Given the description of an element on the screen output the (x, y) to click on. 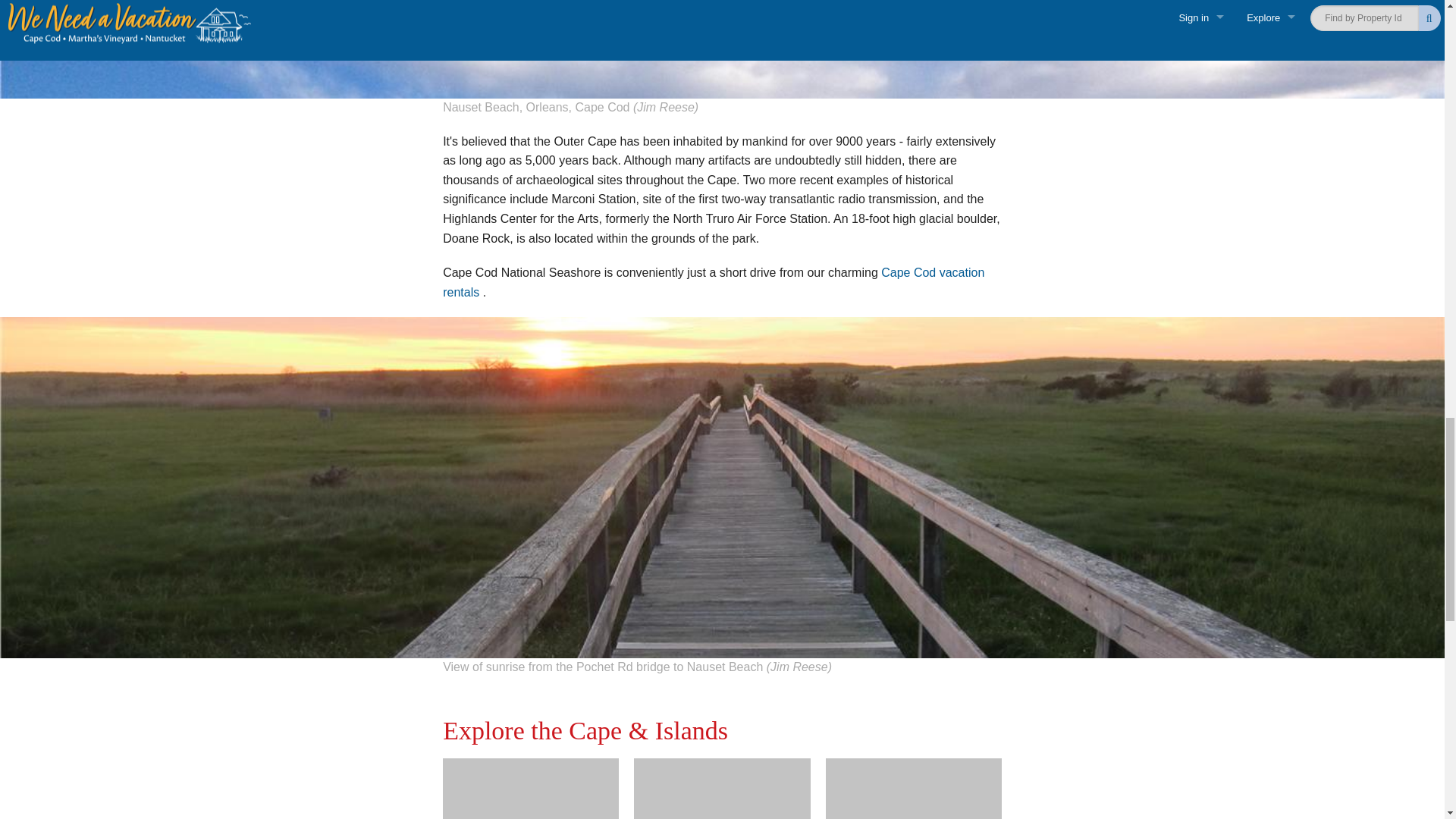
Cape Cod vacation rentals (713, 282)
Cape Cod Rentals (713, 282)
The History of First Encounter Beach (530, 788)
The Best Beaches on Cape Cod (913, 788)
Arnold's Lobster and Clams (721, 788)
